Given the description of an element on the screen output the (x, y) to click on. 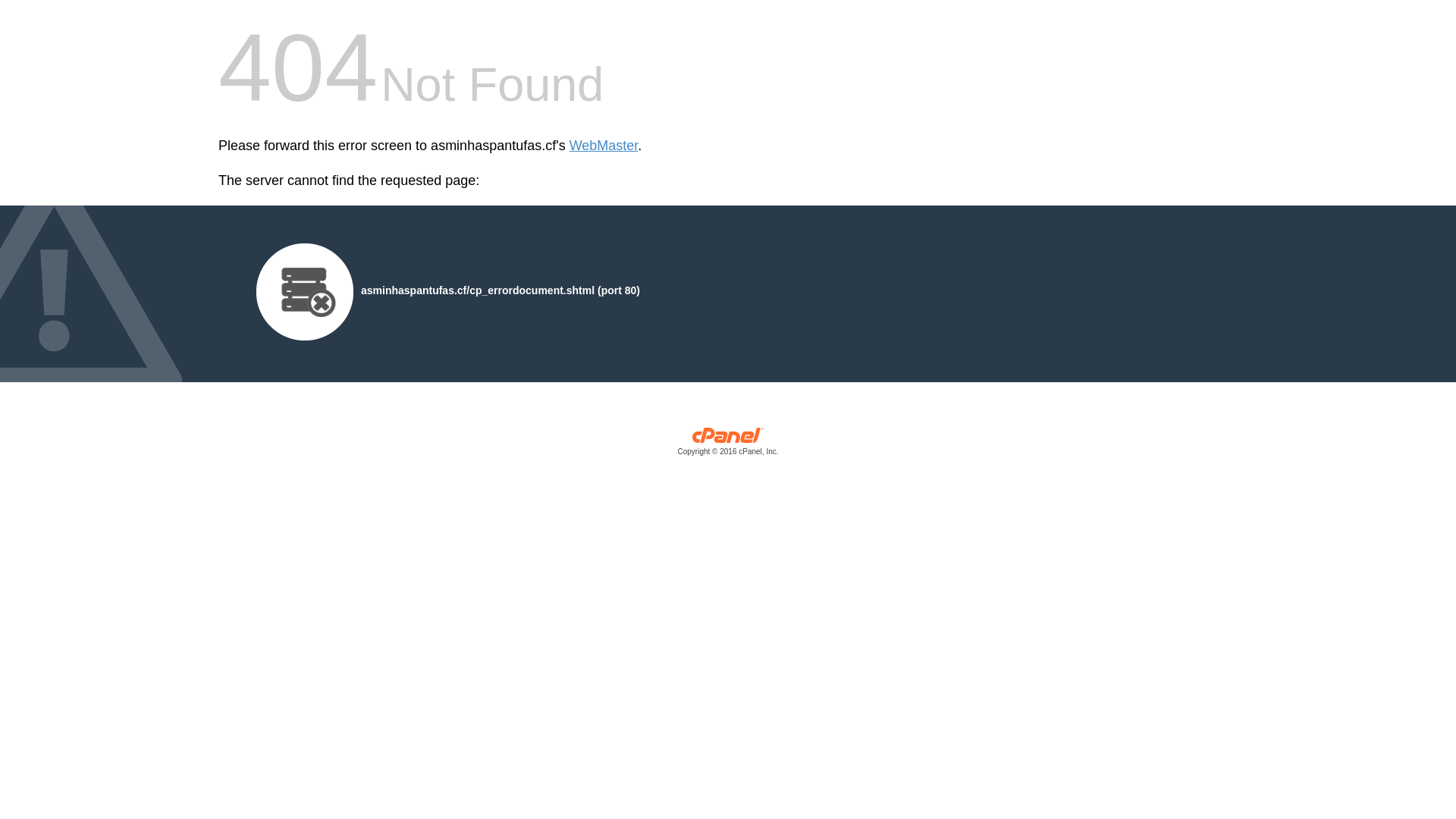
WebMaster Element type: text (603, 145)
